Given the description of an element on the screen output the (x, y) to click on. 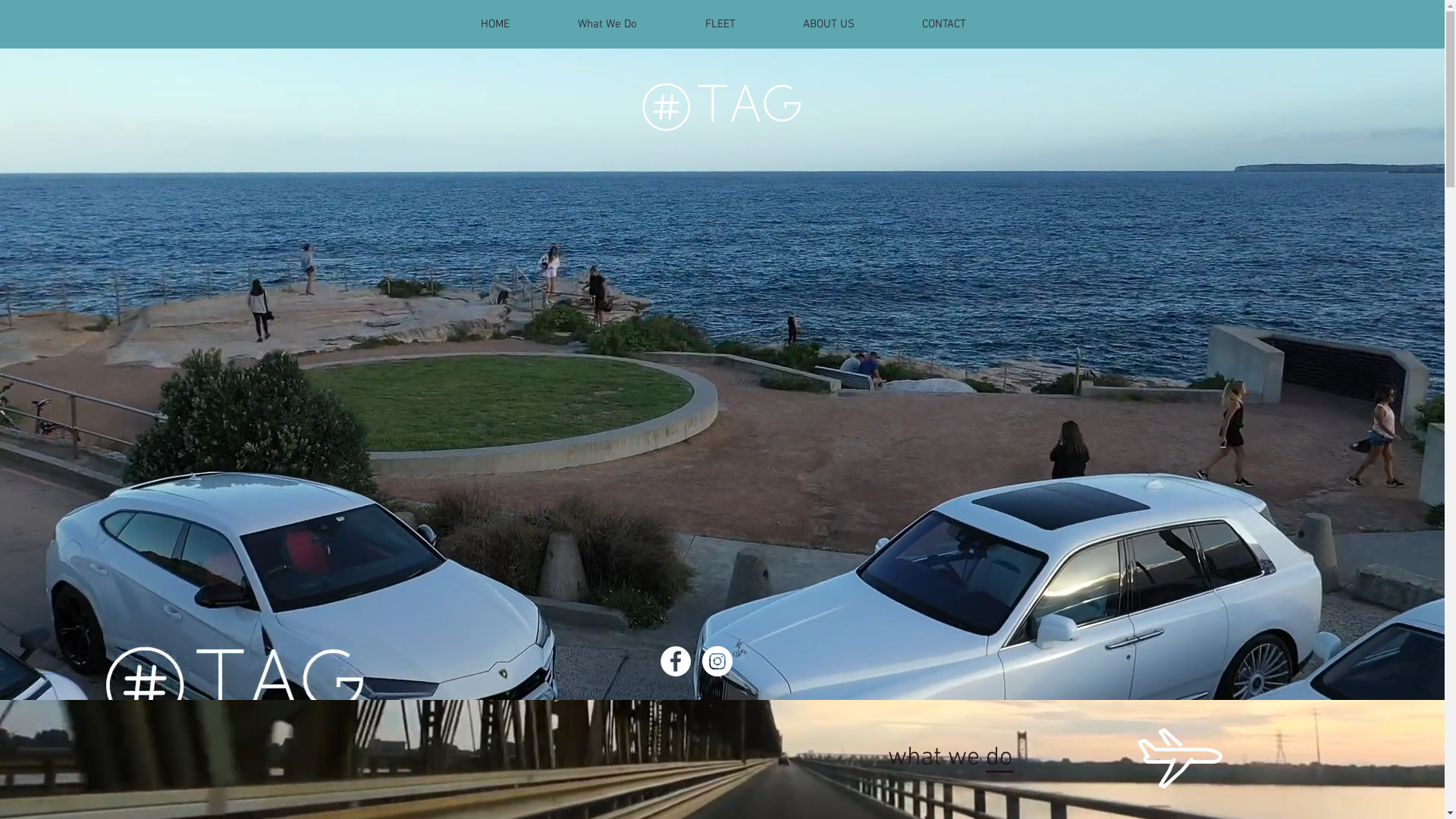
HOME Element type: text (493, 24)
ABOUT US Element type: text (828, 24)
What We Do Element type: text (606, 24)
FLEET Element type: text (719, 24)
CONTACT Element type: text (944, 24)
